Given the description of an element on the screen output the (x, y) to click on. 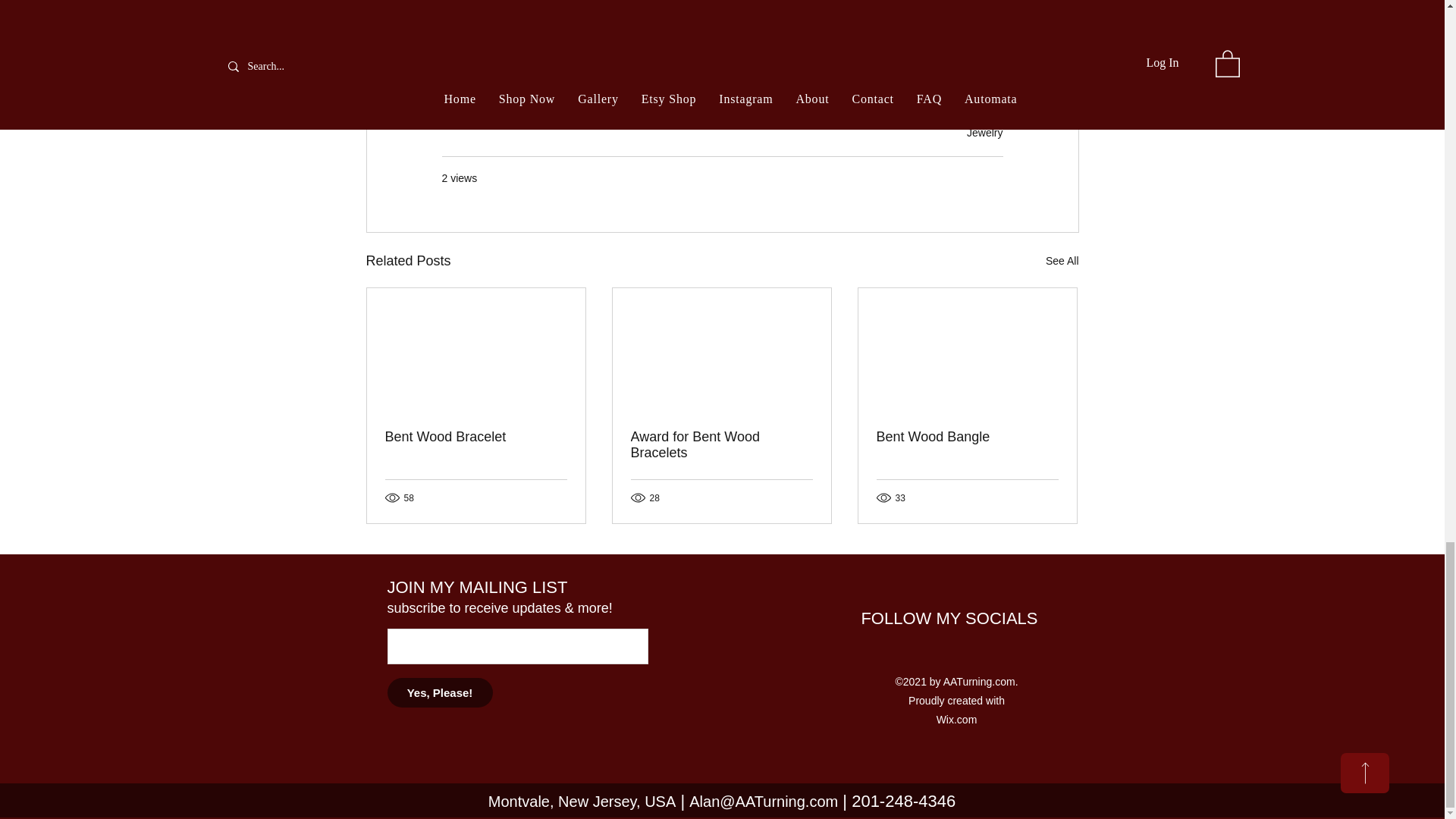
Handmade Jewelry (800, 47)
Wood Jewelry (905, 47)
AATurning (635, 47)
Wood Art (708, 47)
Alan Adler (561, 47)
Woodturning (481, 47)
